Given the description of an element on the screen output the (x, y) to click on. 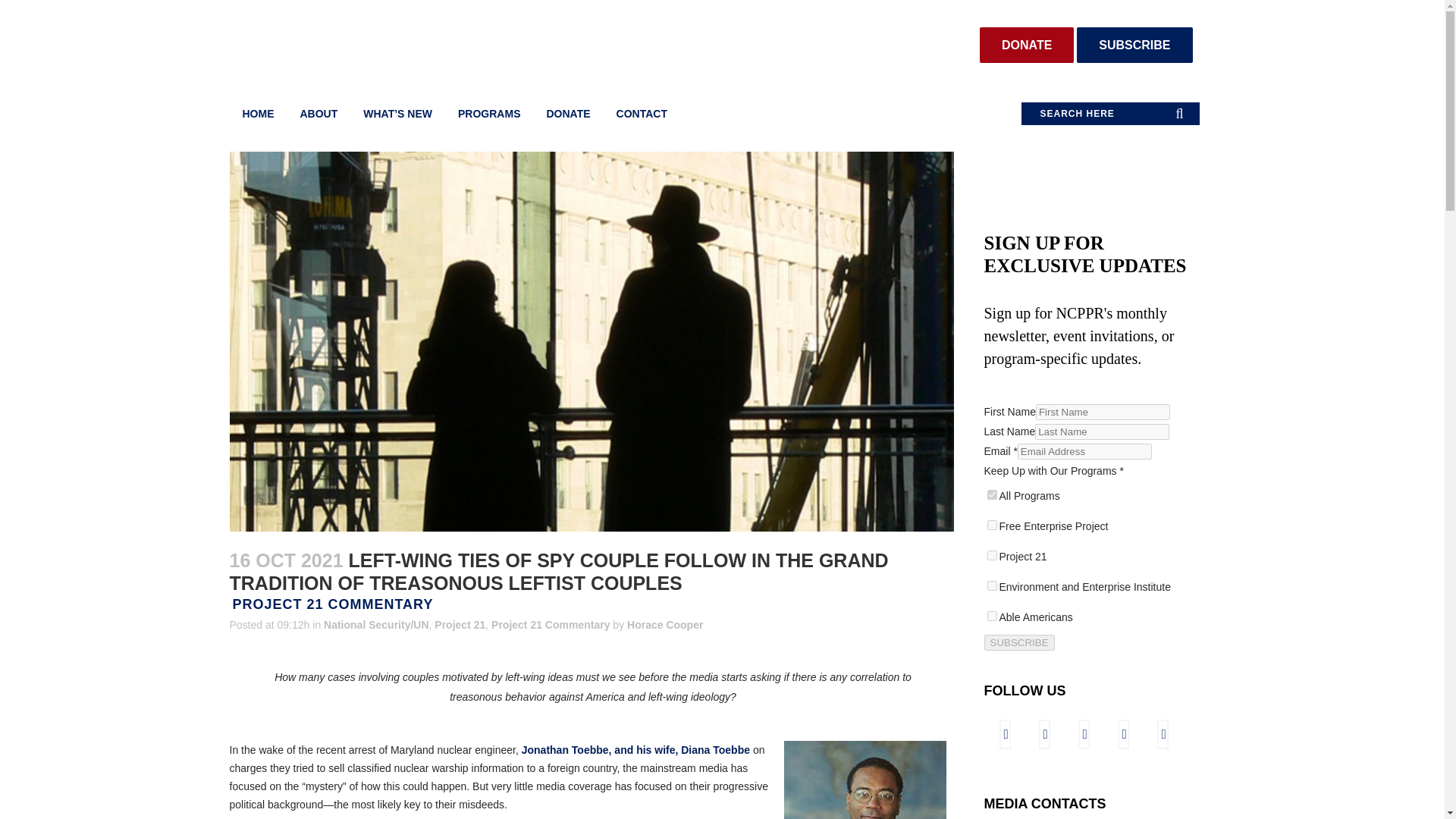
Free Enterprise Project (992, 524)
Project 21 Commentary (551, 624)
Project 21 (458, 624)
Project 21 (992, 555)
SUBSCRIBE (1134, 45)
DONATE (1026, 45)
Jonathan Toebbe, and his wife, Diana Toebbe (635, 749)
HOME (257, 113)
CONTACT (641, 113)
Able Americans (992, 615)
PROJECT 21 COMMENTARY (331, 604)
Horace Cooper (665, 624)
All Programs (992, 494)
ABOUT (318, 113)
DONATE (567, 113)
